Given the description of an element on the screen output the (x, y) to click on. 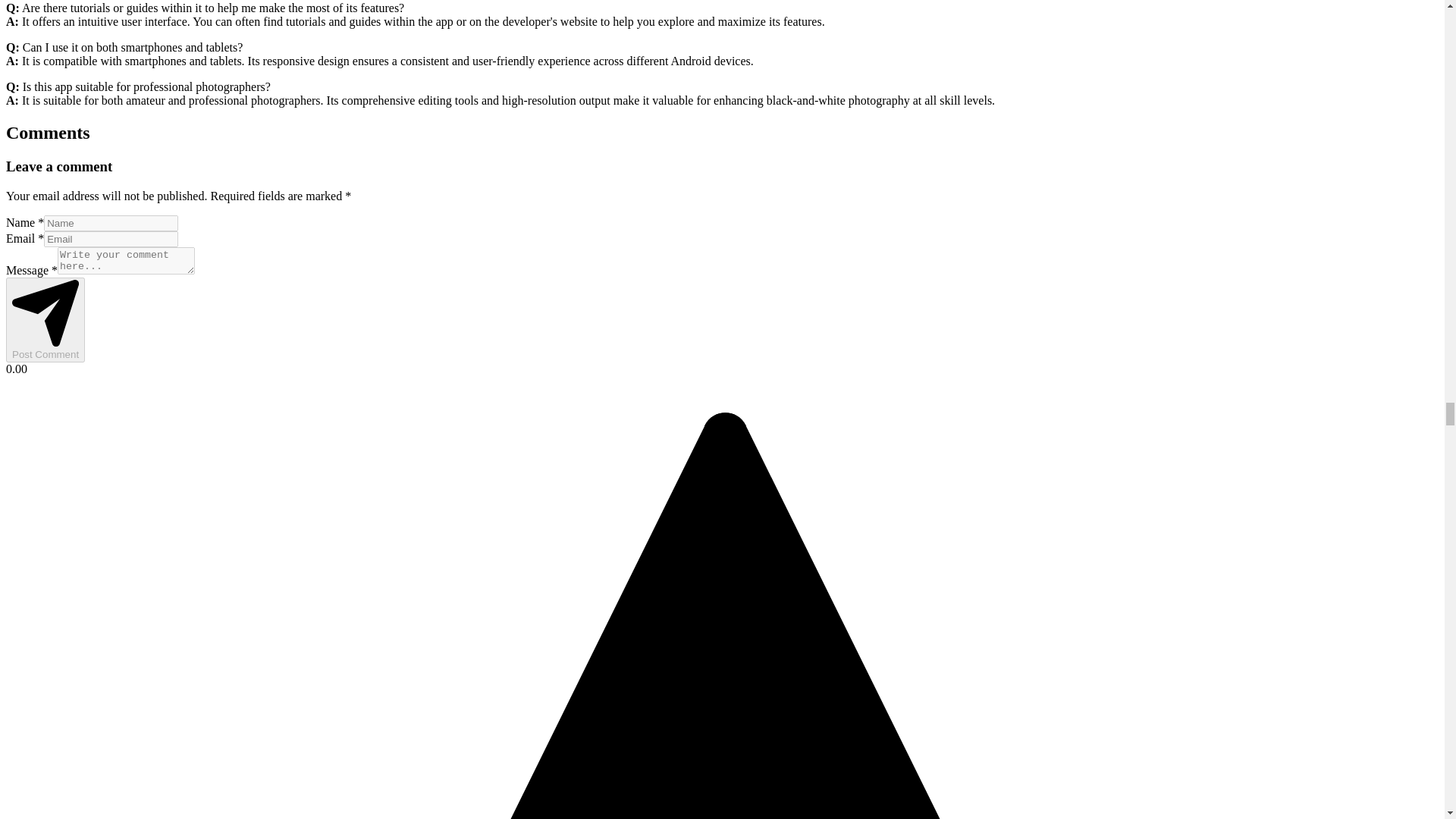
Post Comment (44, 319)
